Given the description of an element on the screen output the (x, y) to click on. 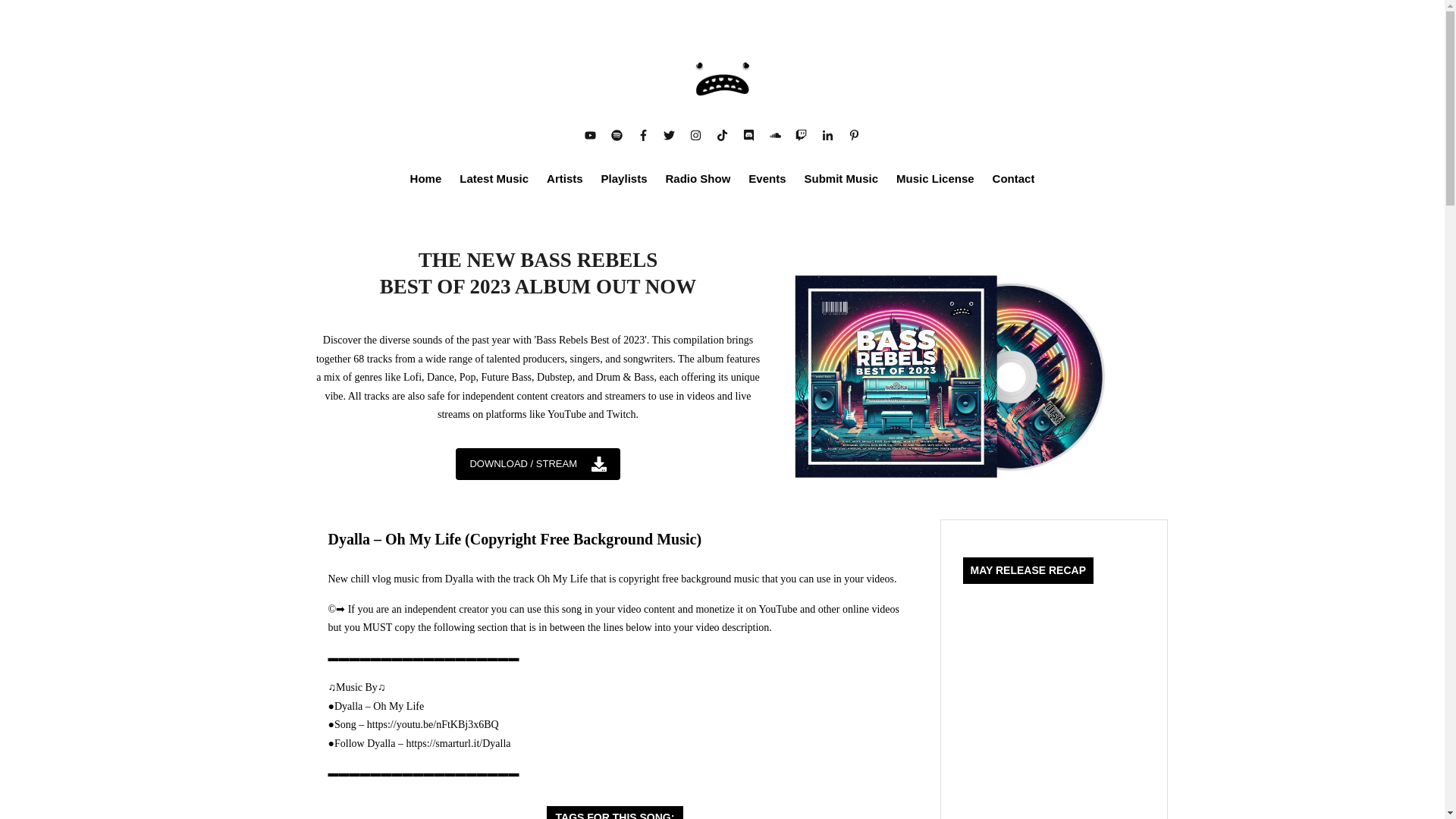
Events (767, 178)
Contact (1013, 178)
Submit Music (842, 178)
Artists (565, 178)
Best Of 2023 CD Cover (947, 374)
Responsive Video (1053, 720)
Latest Music (494, 178)
Home (426, 178)
Radio Show (697, 178)
Music License (935, 178)
